Given the description of an element on the screen output the (x, y) to click on. 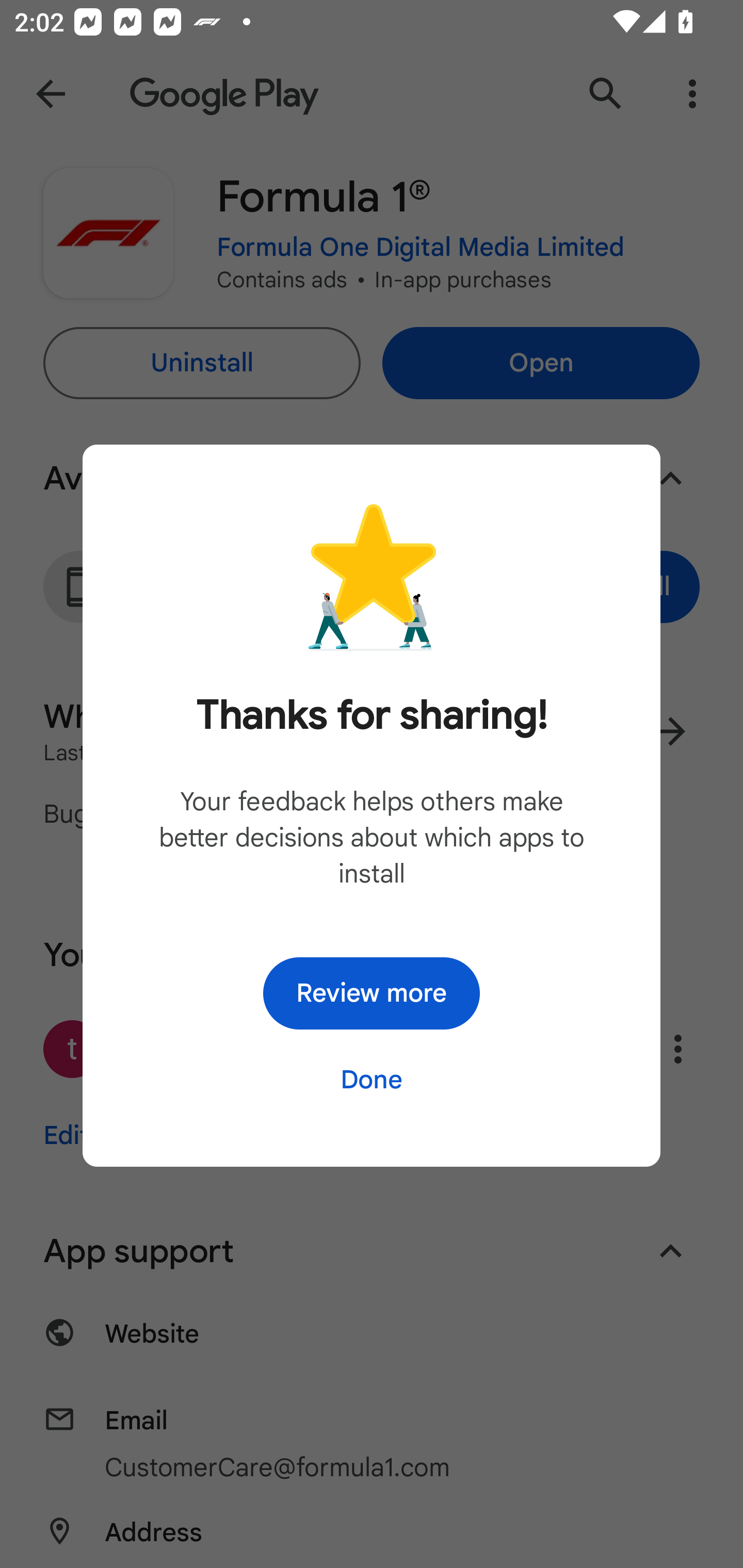
Review more (371, 993)
Done (371, 1079)
